Given the description of an element on the screen output the (x, y) to click on. 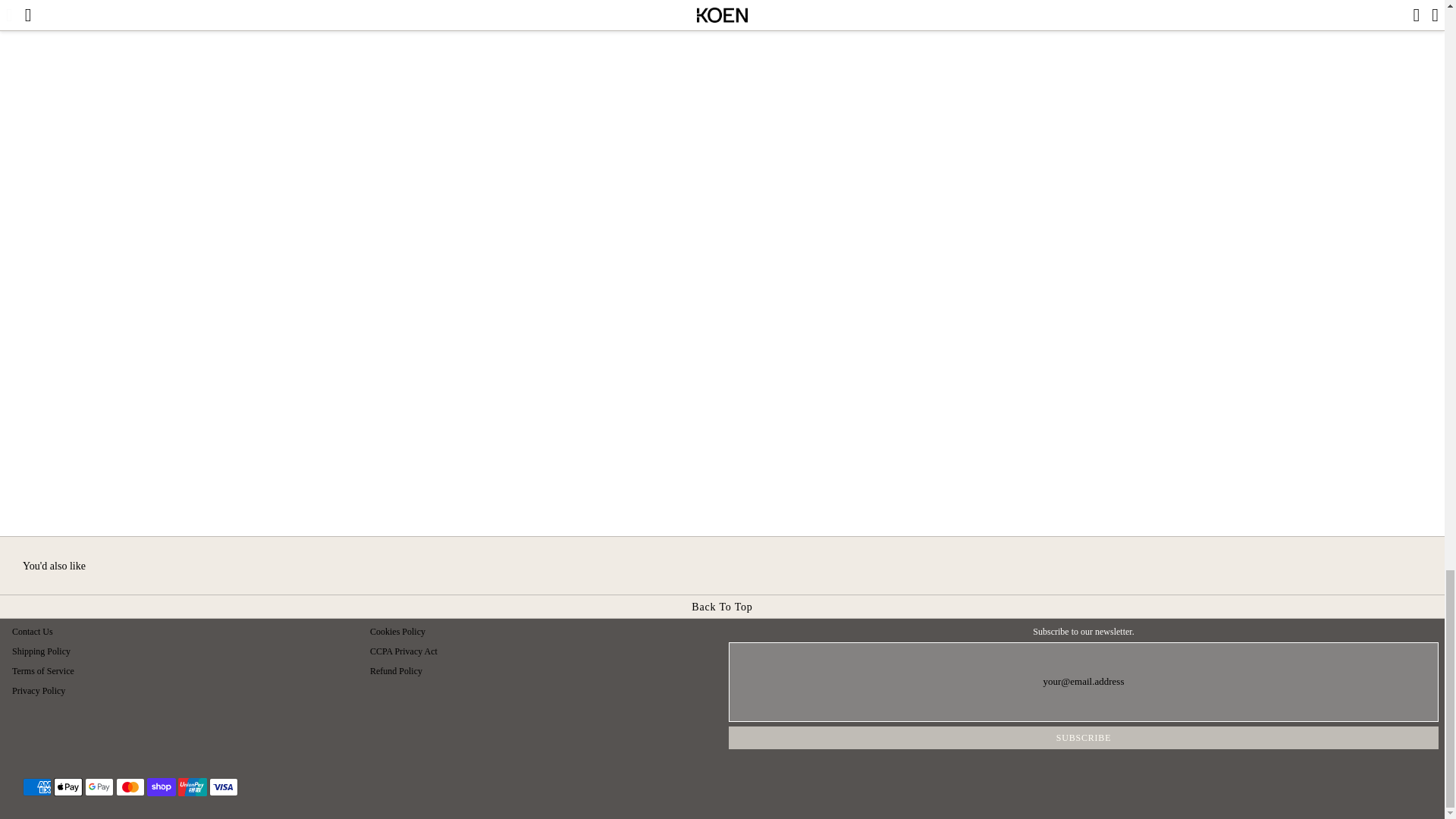
Cookies Policy (397, 630)
Terms of Service (42, 671)
Contact Us (32, 630)
Union Pay (191, 787)
Mastercard (130, 787)
Google Pay (98, 787)
American Express (36, 787)
Visa (223, 787)
Shop Pay (161, 787)
Apple Pay (67, 787)
SUBSCRIBE (1083, 737)
Privacy Policy (38, 690)
Shipping Policy (41, 650)
Refund Policy (396, 671)
CCPA Privacy Act (404, 650)
